Given the description of an element on the screen output the (x, y) to click on. 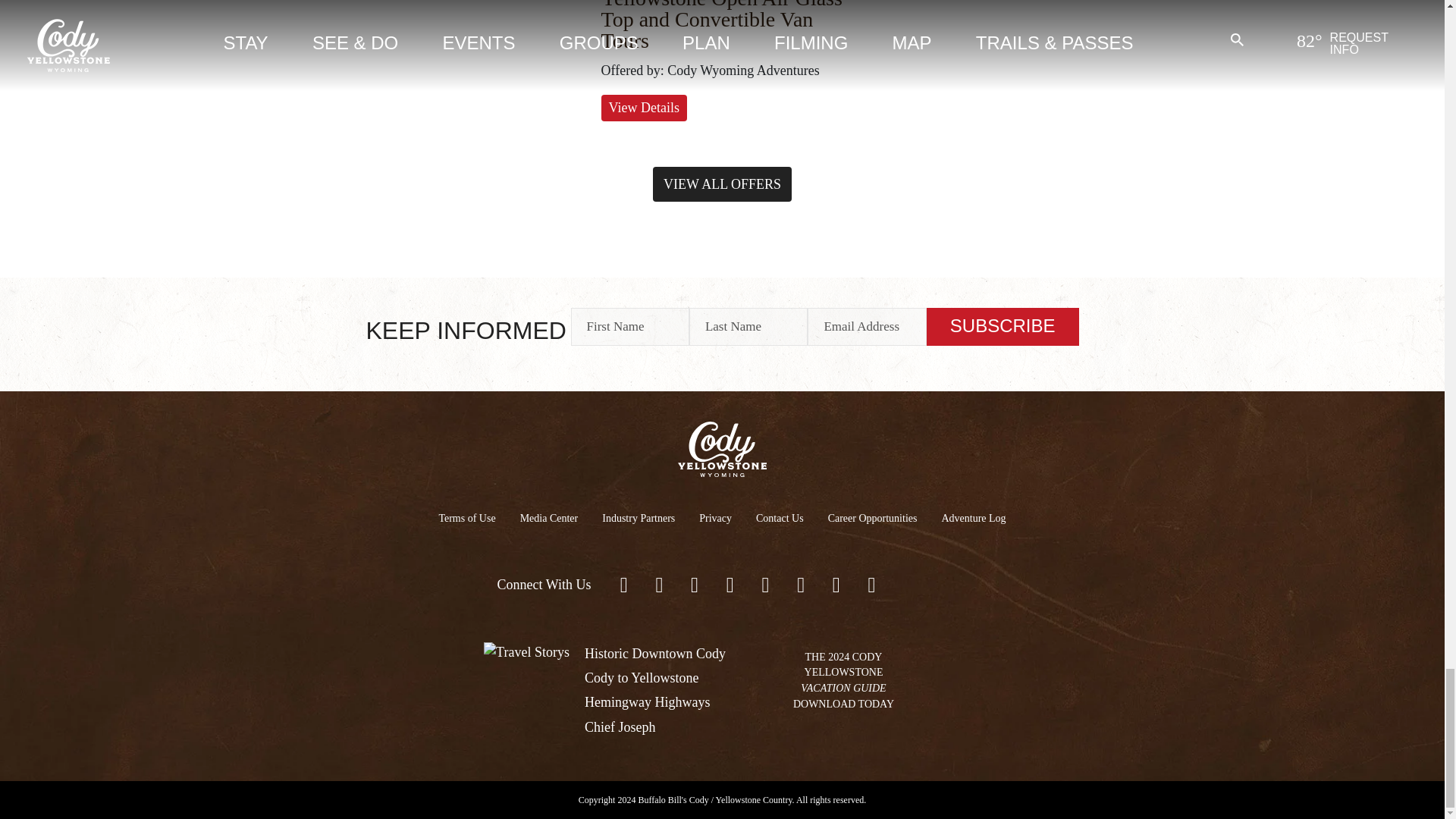
Industry Partners (638, 517)
Privacy Policy (715, 517)
Terms of Use (466, 517)
Privacy (715, 517)
View Details (642, 108)
Industry Partners (638, 517)
Yellowstone Open Air Glass Top and Convertible Van Tours (720, 26)
Subscribe (1002, 326)
Terms and Conditions (466, 517)
First Name (629, 326)
Press and Media Center (549, 517)
Media Center (549, 517)
Career Opportunities (872, 517)
Last Name (748, 326)
Questions? Contact us! (779, 517)
